Given the description of an element on the screen output the (x, y) to click on. 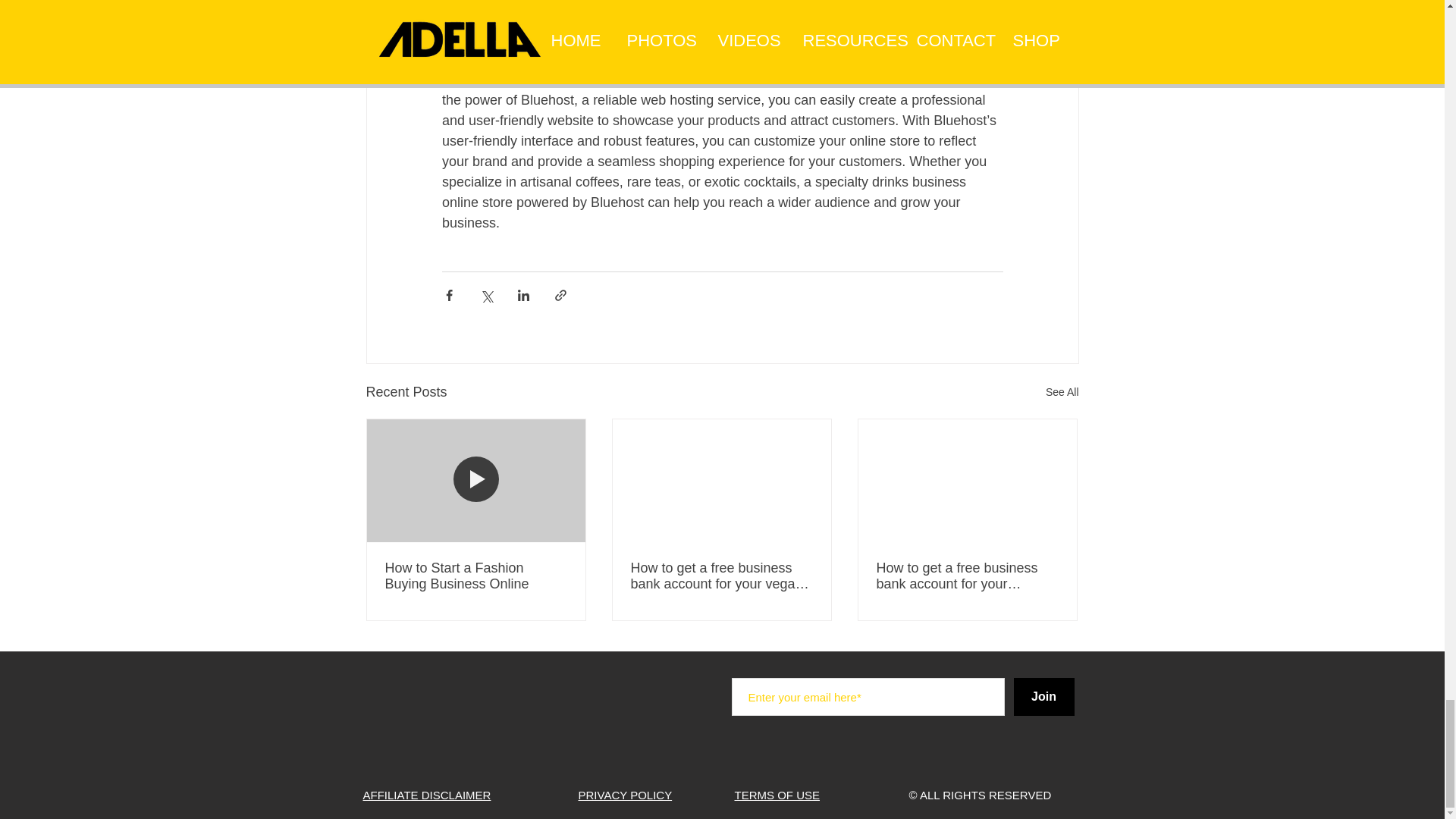
How to Start a Fashion Buying Business Online (476, 576)
See All (1061, 392)
